Given the description of an element on the screen output the (x, y) to click on. 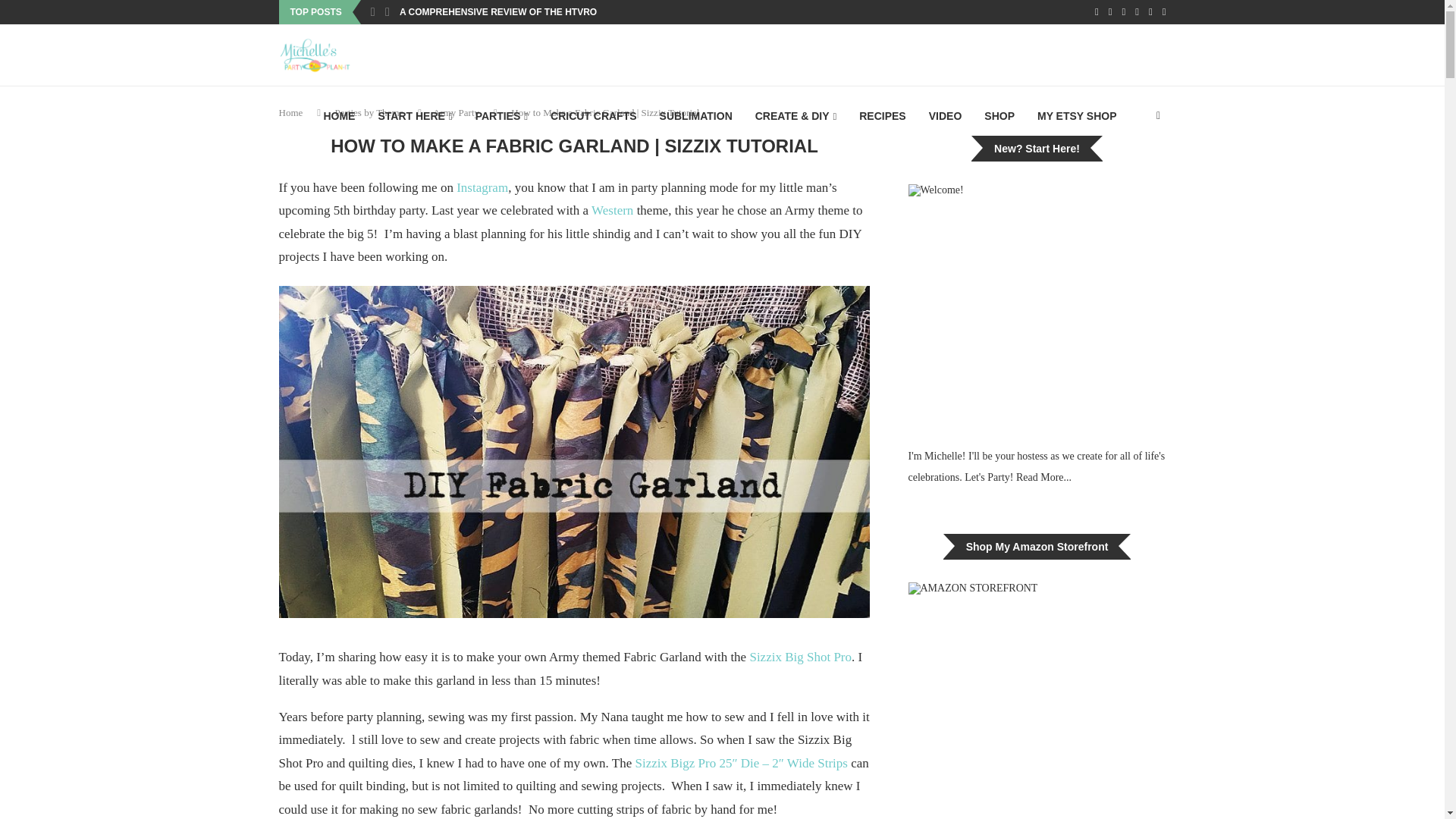
A COMPREHENSIVE REVIEW OF THE HTVRONT MANUAL HEAT... (541, 12)
START HERE (414, 116)
